Given the description of an element on the screen output the (x, y) to click on. 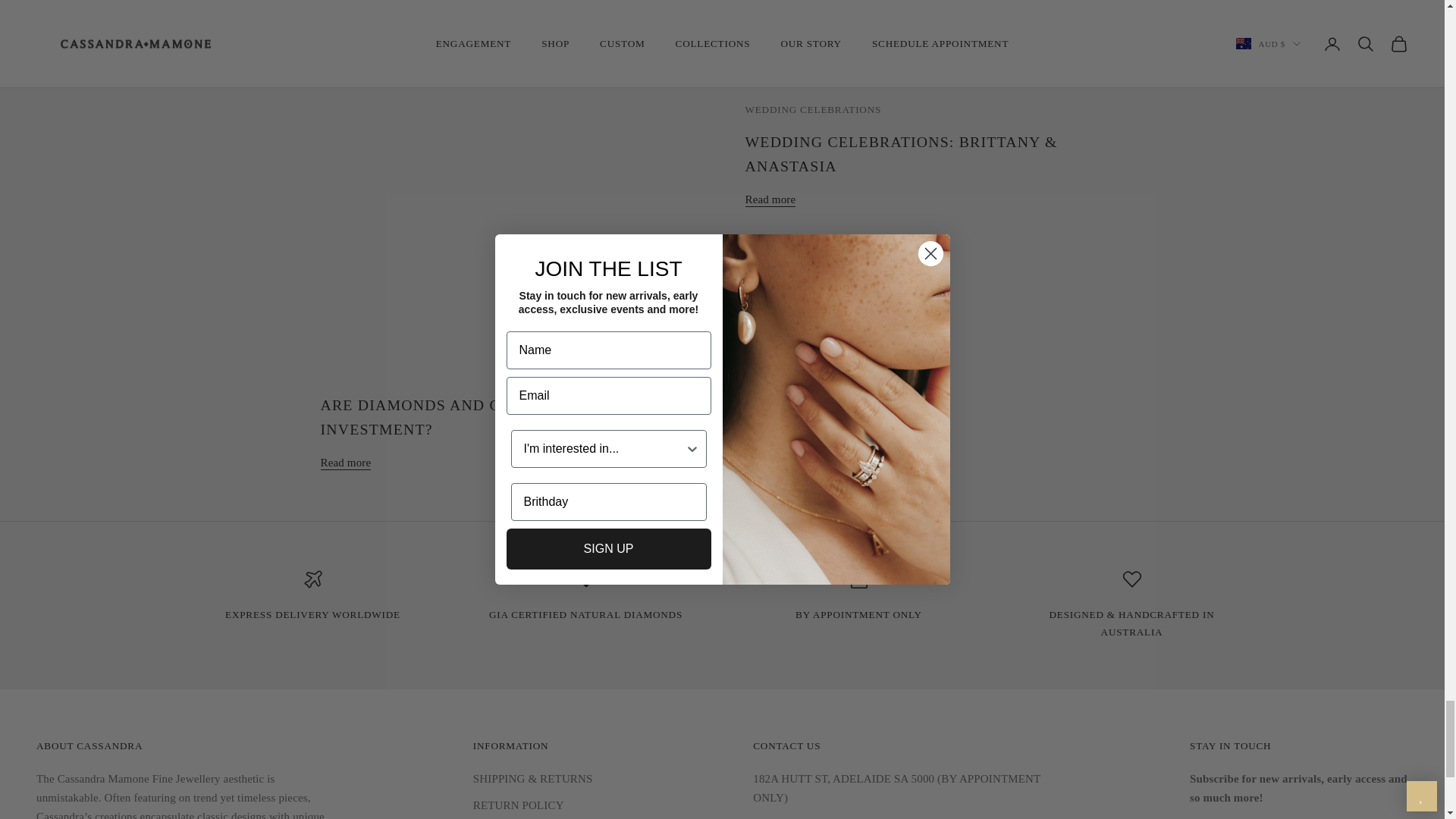
New Arrivals (312, 614)
THE CUSTOM PROCESS (1131, 623)
OUR DIAMONDS (585, 614)
